Given the description of an element on the screen output the (x, y) to click on. 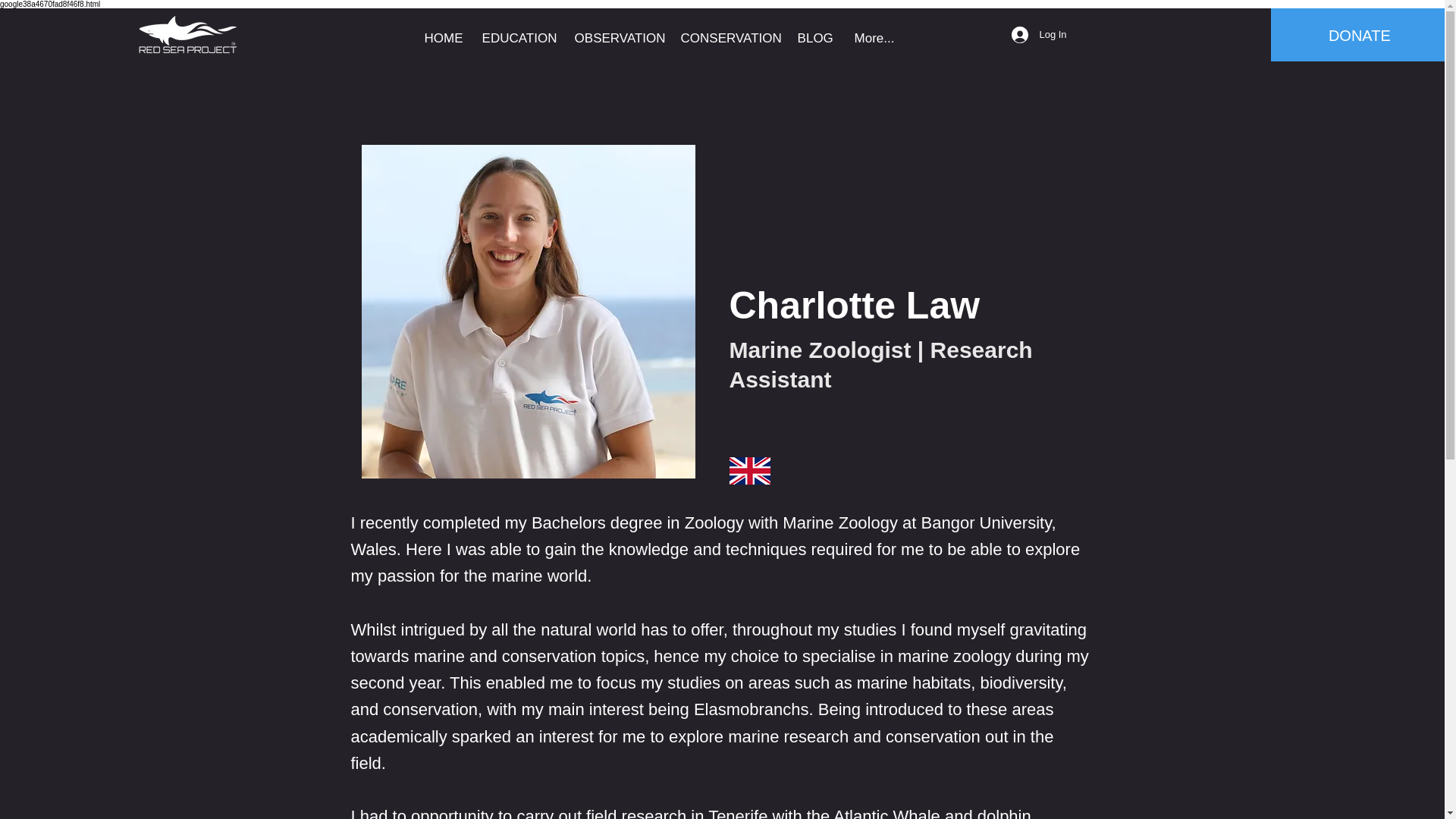
BLOG (814, 38)
HOME (441, 38)
EDUCATION (516, 38)
Charlotte Law.JPG (527, 311)
OBSERVATION (616, 38)
Log In (1039, 34)
DONATE (1358, 35)
CONSERVATION (727, 38)
